Given the description of an element on the screen output the (x, y) to click on. 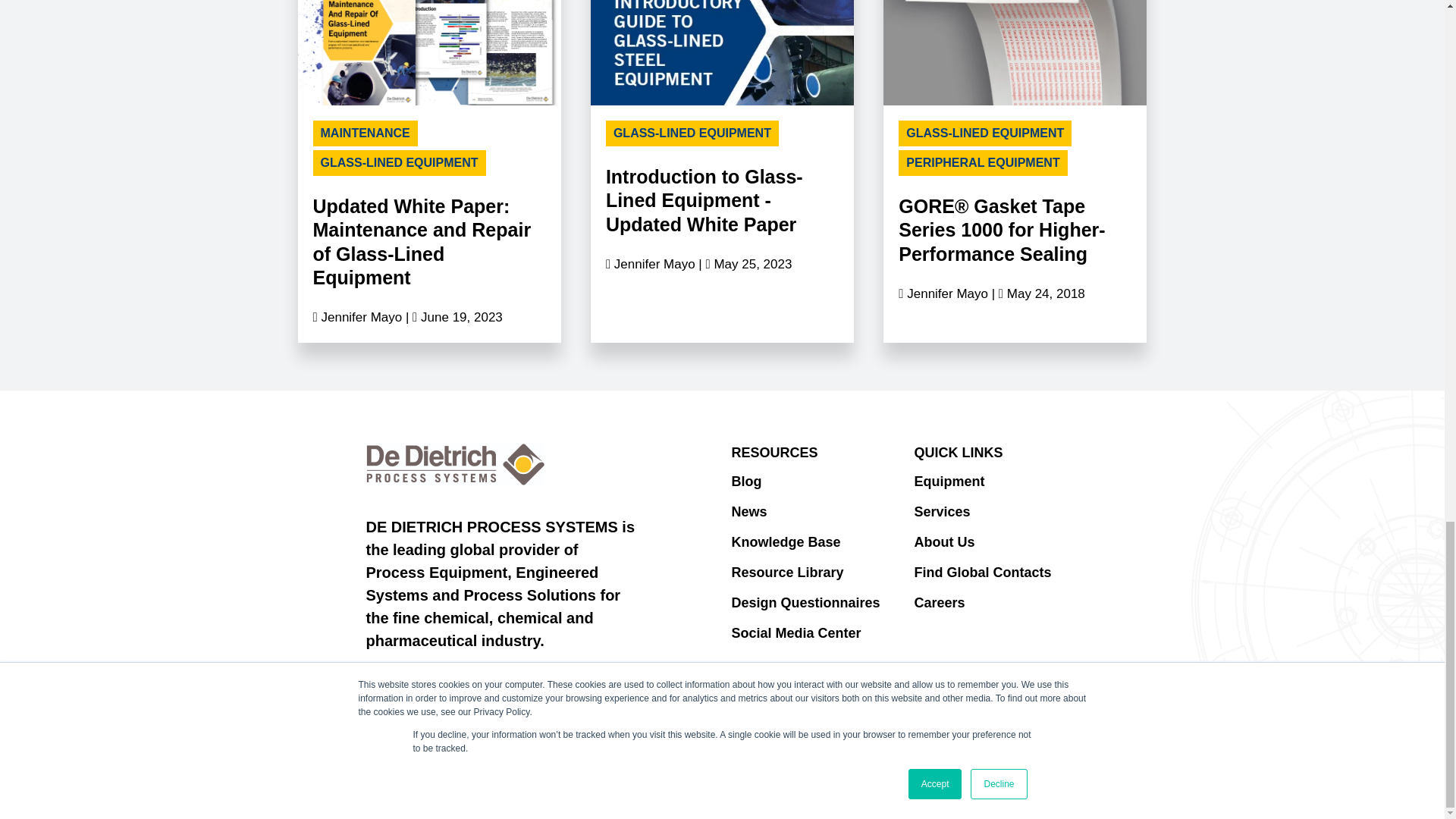
De Dietrich Process System (454, 464)
